Given the description of an element on the screen output the (x, y) to click on. 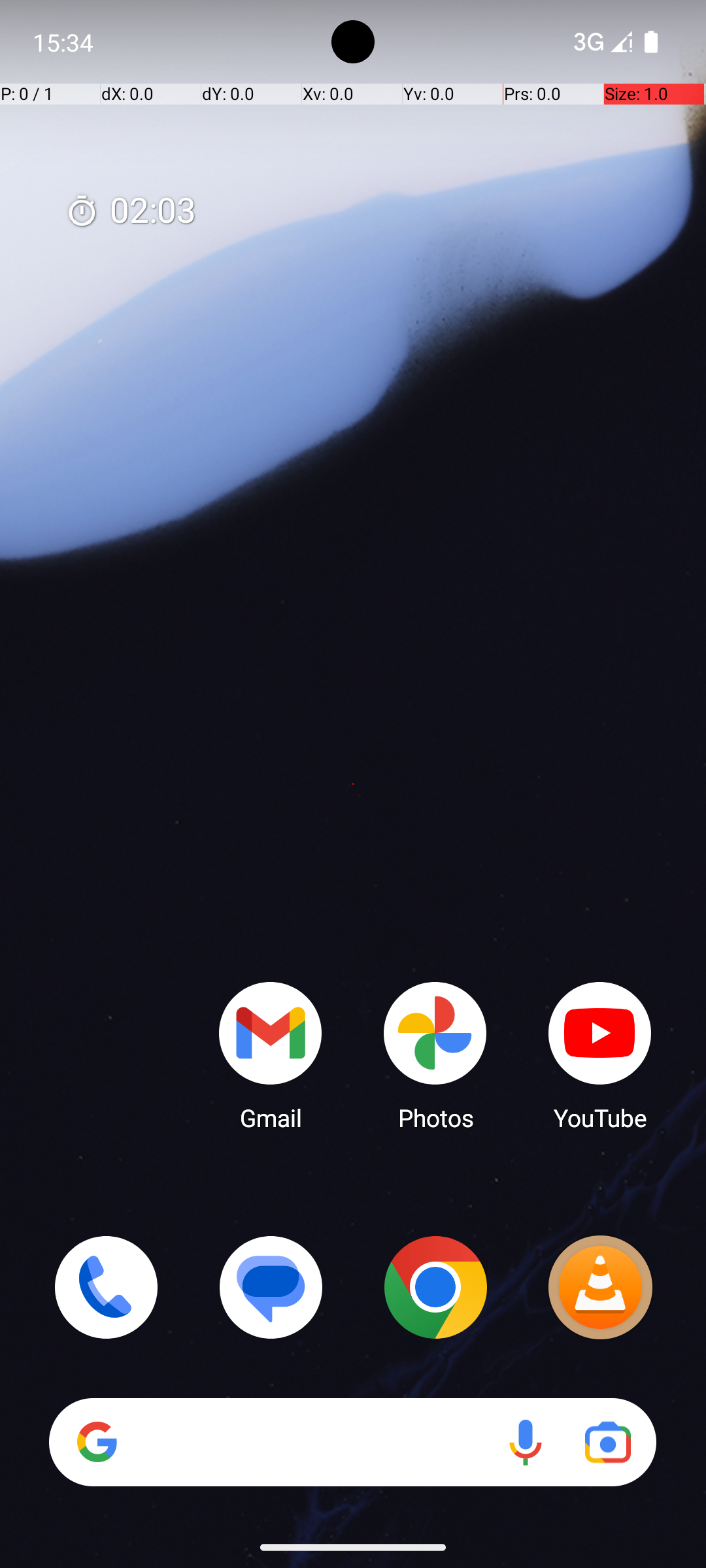
Home Element type: android.view.View (353, 804)
Phone Element type: android.widget.TextView (105, 1287)
Messages Element type: android.widget.TextView (270, 1287)
Chrome Element type: android.widget.TextView (435, 1287)
VLC Element type: android.widget.TextView (599, 1287)
Search Element type: android.widget.FrameLayout (352, 1442)
02:03 Element type: android.widget.TextView (130, 210)
Gmail Element type: android.widget.TextView (270, 1054)
Photos Element type: android.widget.TextView (435, 1054)
YouTube Element type: android.widget.TextView (599, 1054)
Google app Element type: android.widget.ImageView (97, 1441)
Voice search Element type: android.widget.ImageView (525, 1442)
Google Lens Element type: android.widget.ImageButton (607, 1442)
Phone two bars. Element type: android.widget.FrameLayout (600, 41)
